Given the description of an element on the screen output the (x, y) to click on. 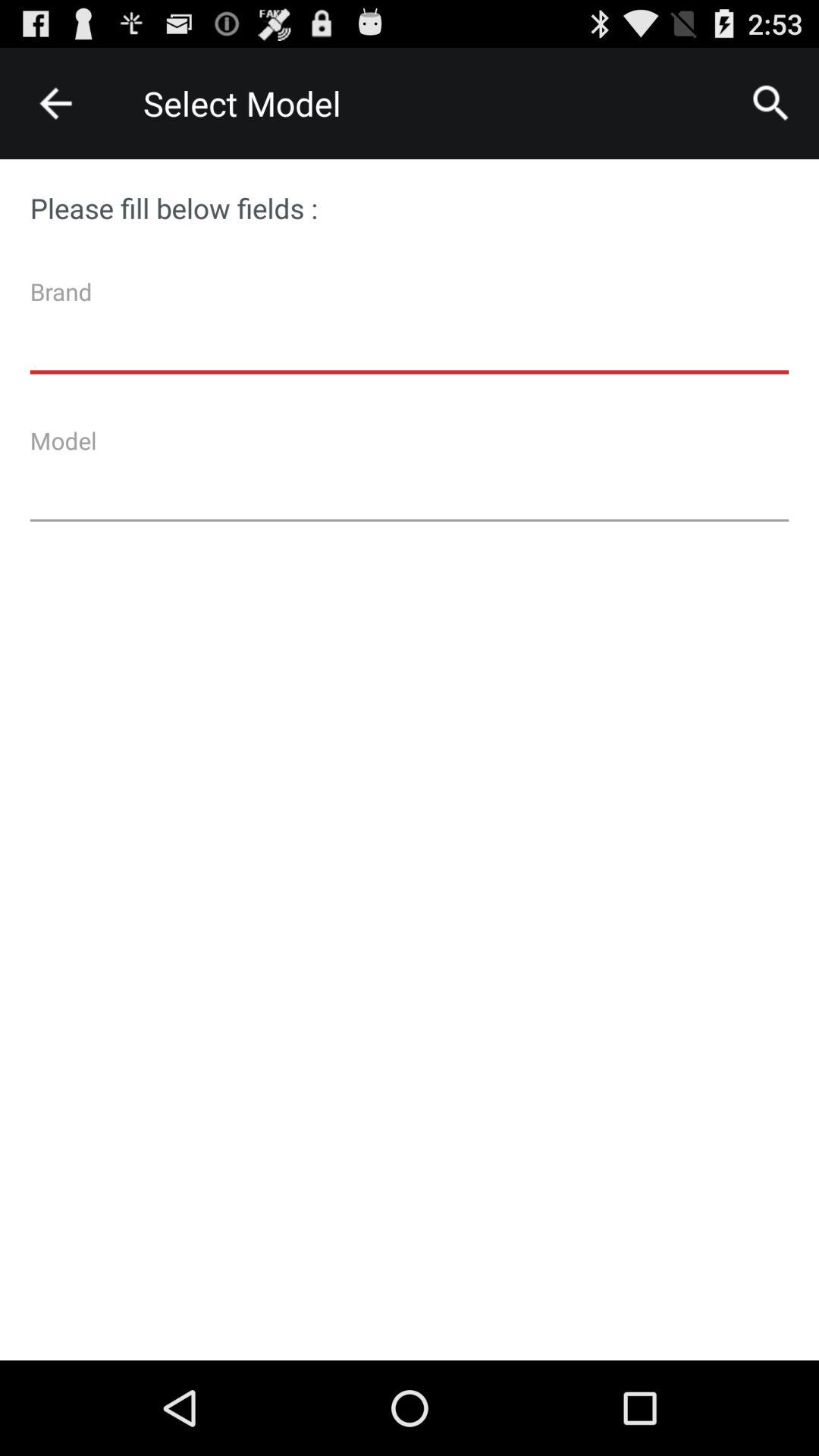
choose item next to the select model icon (55, 103)
